Given the description of an element on the screen output the (x, y) to click on. 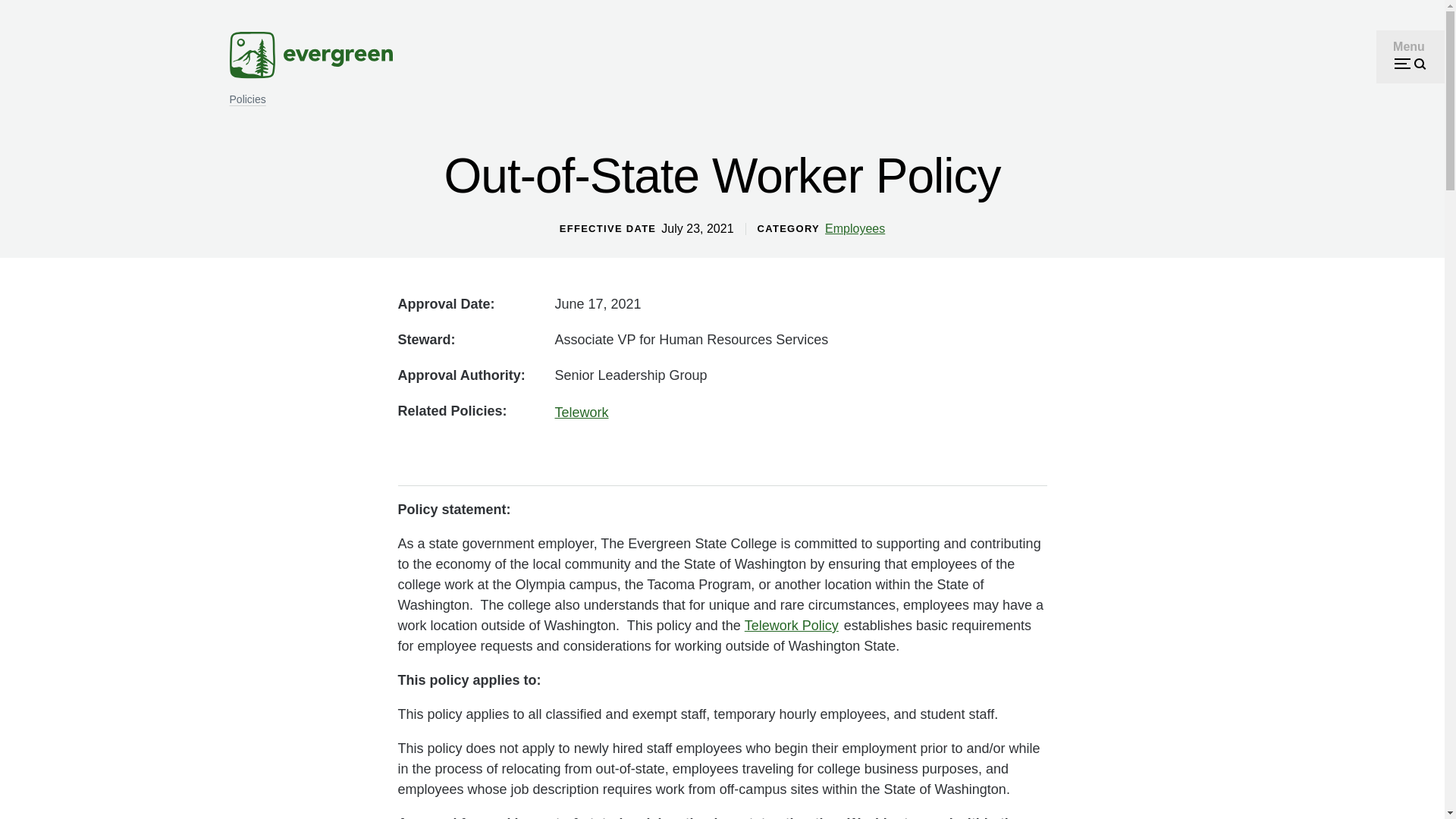
Telework (581, 413)
Policies (247, 99)
Employees (855, 228)
Telework Policy (791, 625)
